Given the description of an element on the screen output the (x, y) to click on. 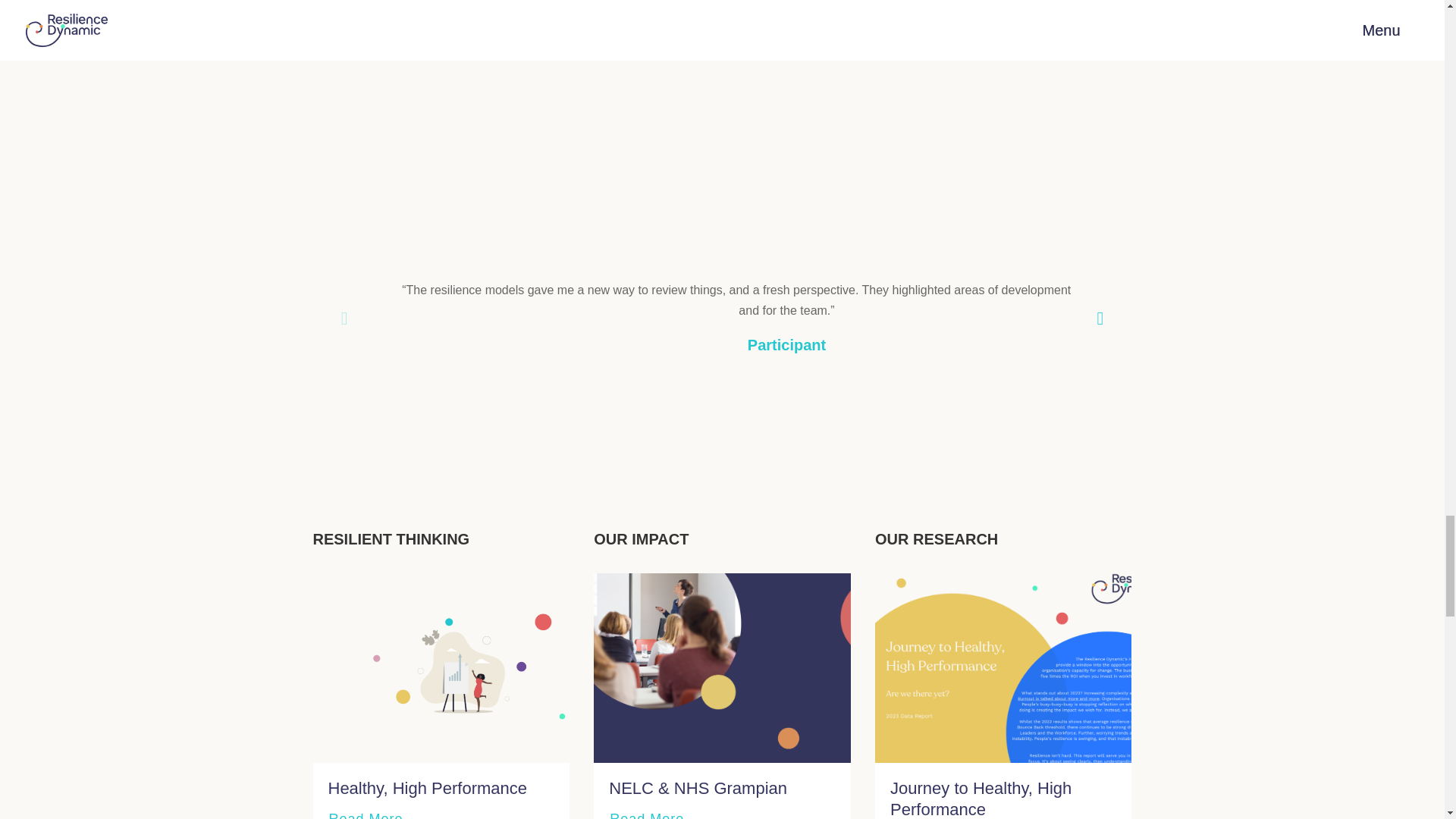
Journey to Healthy, High Performance (980, 798)
Healthy, High Performance (427, 787)
